Given the description of an element on the screen output the (x, y) to click on. 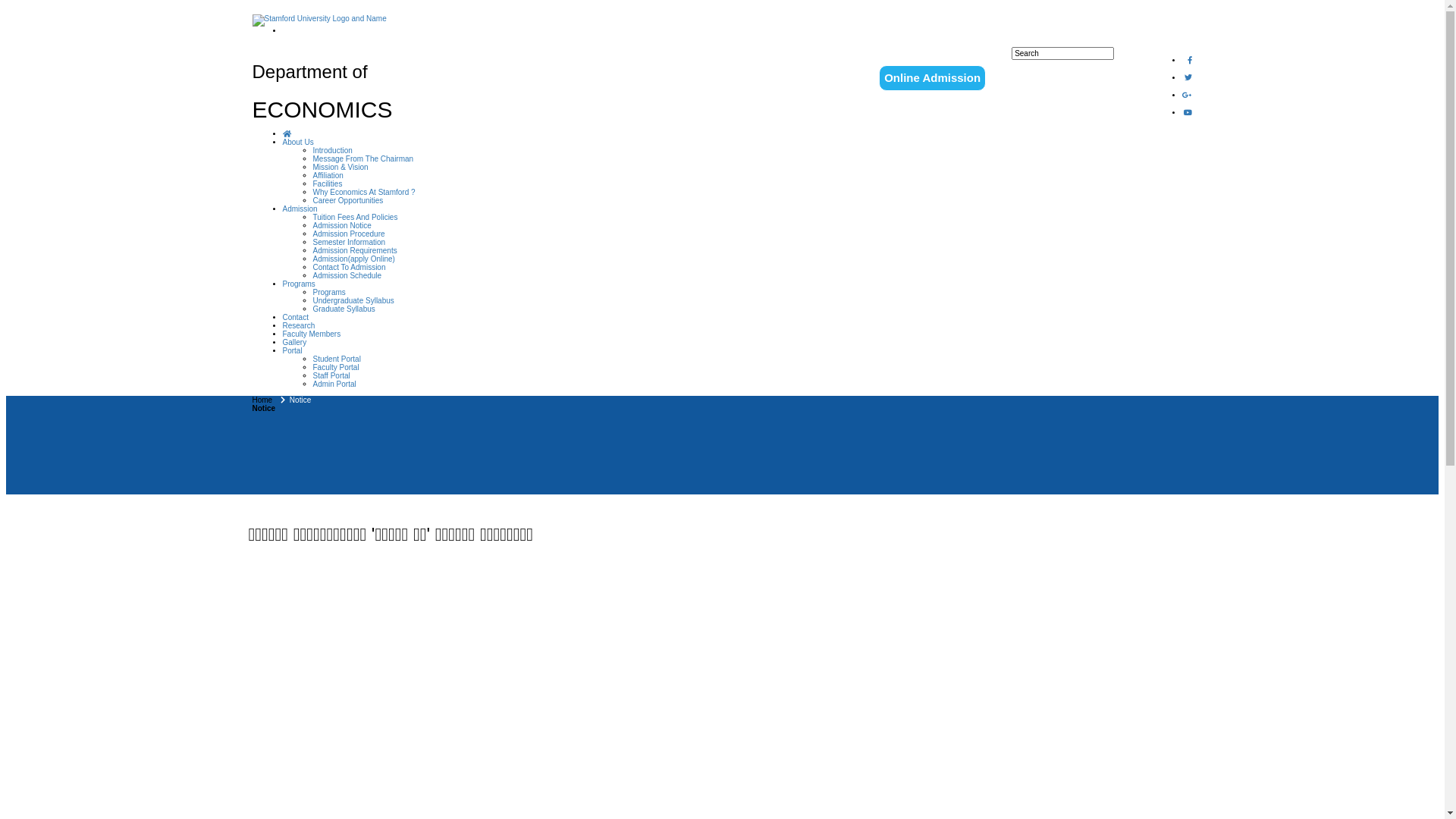
Contact Element type: text (294, 317)
About Us Element type: text (297, 142)
Affiliation Element type: text (327, 175)
Admission Notice Element type: text (341, 225)
Tuition Fees And Policies Element type: text (354, 217)
Staff Portal Element type: text (330, 375)
Faculty Members Element type: text (311, 333)
Career Opportunities Element type: text (347, 200)
Admission Requirements Element type: text (354, 250)
Admission Element type: text (299, 208)
Facilities Element type: text (327, 183)
Message From The Chairman Element type: text (362, 158)
Online Admission Element type: text (932, 77)
Programs Element type: text (298, 283)
Online Admission Element type: text (931, 78)
Gallery Element type: text (294, 342)
Undergraduate Syllabus Element type: text (352, 300)
Admin Portal Element type: text (333, 383)
Admission Schedule Element type: text (346, 275)
Programs Element type: text (328, 292)
Why Economics At Stamford ? Element type: text (363, 192)
Admission Procedure Element type: text (348, 233)
Contact To Admission Element type: text (348, 267)
Faculty Portal Element type: text (335, 367)
Student Portal Element type: text (336, 358)
Admission(apply Online) Element type: text (353, 258)
Graduate Syllabus Element type: text (343, 308)
Introduction Element type: text (331, 150)
Semester Information Element type: text (348, 242)
Portal Element type: text (291, 350)
Mission & Vision Element type: text (339, 167)
Research Element type: text (298, 325)
